Given the description of an element on the screen output the (x, y) to click on. 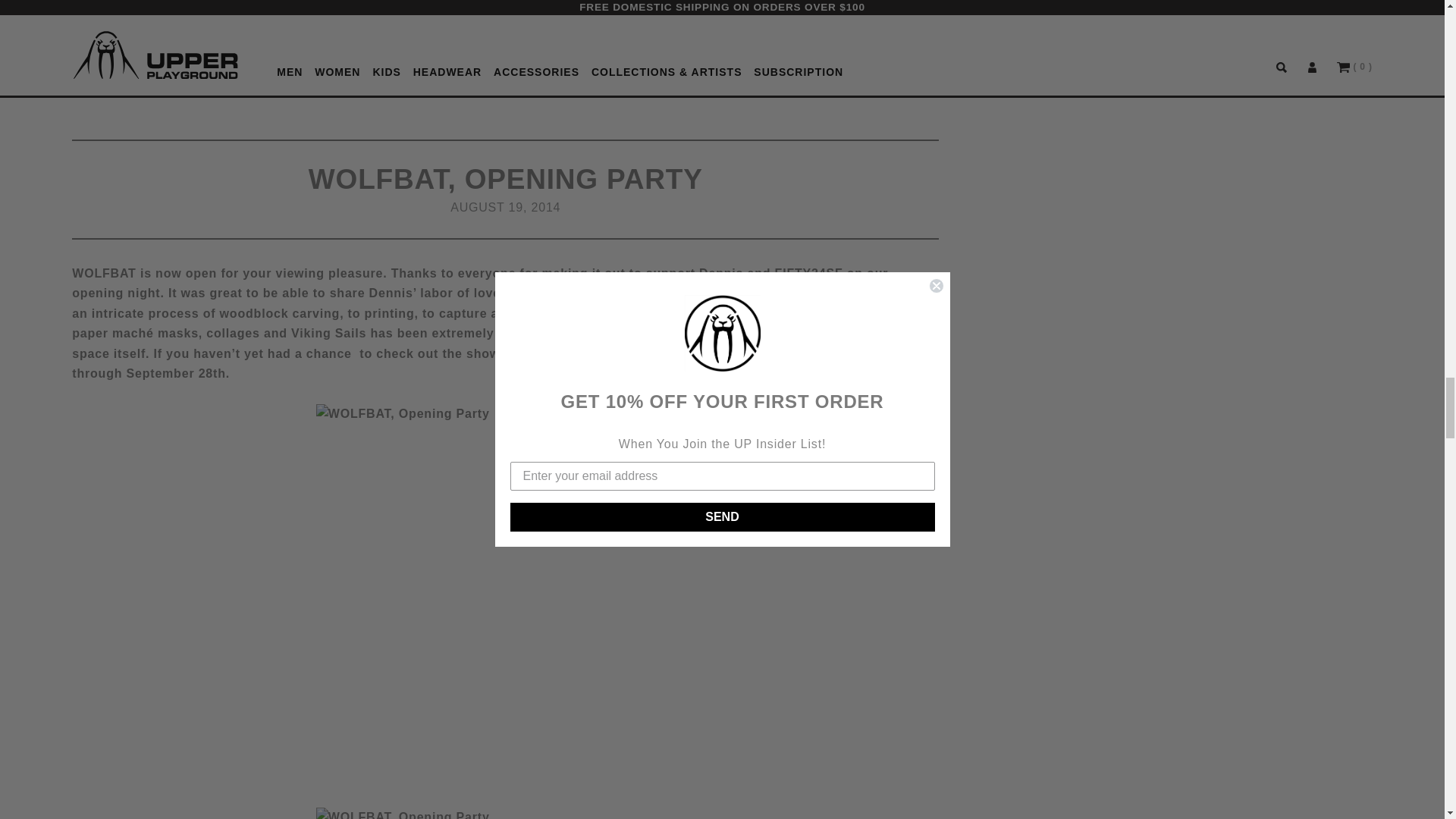
WOLFBAT, Opening Party (505, 813)
